Given the description of an element on the screen output the (x, y) to click on. 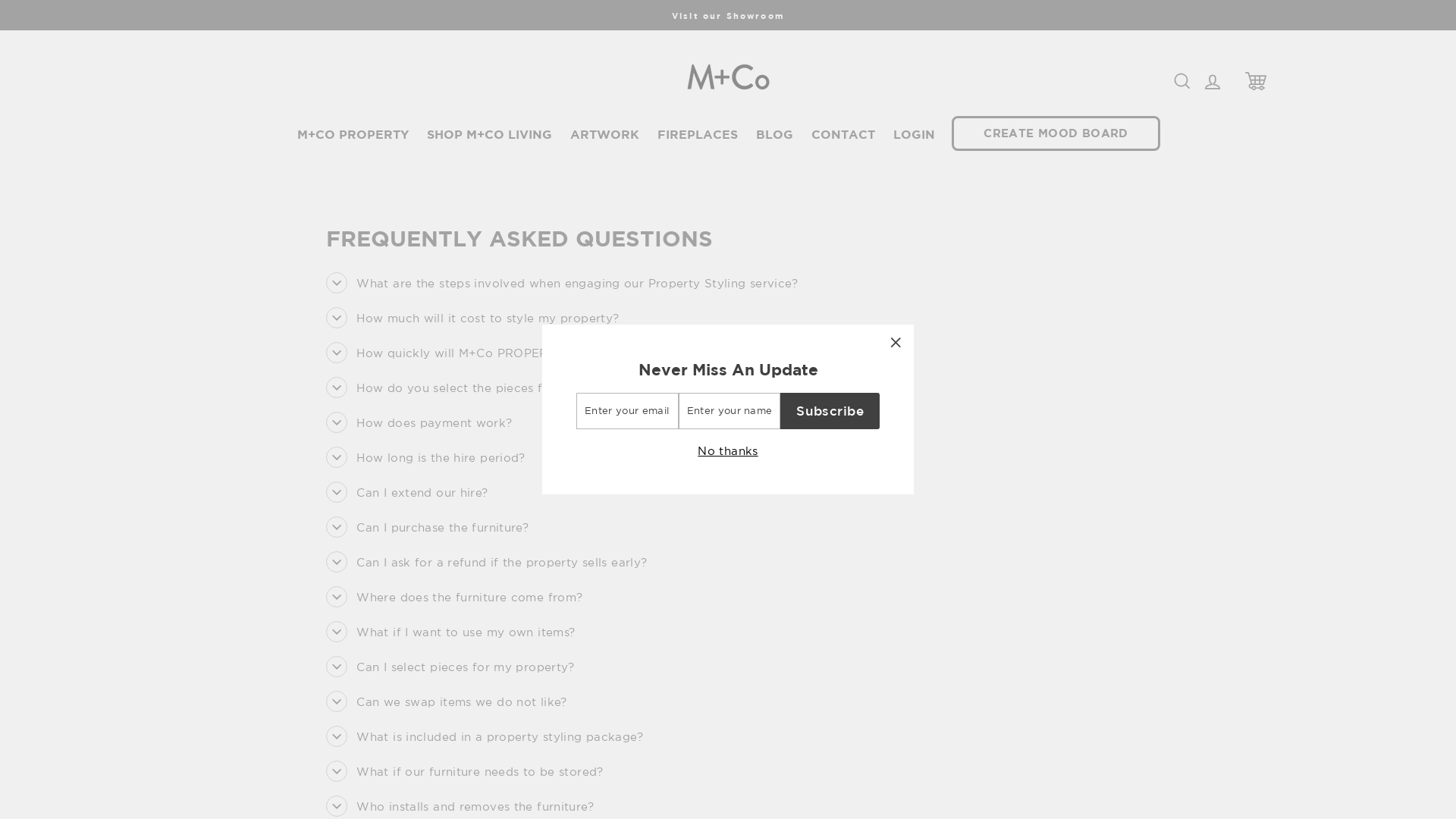
LOG IN Element type: text (1212, 80)
What is included in a property styling package? Element type: text (484, 735)
Where does the furniture come from? Element type: text (454, 596)
Visit our Showroom Element type: text (727, 14)
LOGIN Element type: text (913, 134)
No thanks Element type: text (727, 450)
Skip to content Element type: text (0, 0)
What if our furniture needs to be stored? Element type: text (464, 770)
Can I extend our hire? Element type: text (406, 491)
Can I purchase the furniture? Element type: text (427, 526)
How does payment work? Element type: text (418, 421)
Can we swap items we do not like? Element type: text (446, 701)
ARTWORK Element type: text (604, 134)
SHOP M+CO LIVING Element type: text (489, 134)
Can I ask for a refund if the property sells early? Element type: text (486, 561)
Subscribe Element type: text (829, 410)
What if I want to use my own items? Element type: text (450, 631)
How do you select the pieces for my home? Element type: text (472, 387)
CONTACT Element type: text (842, 134)
FIREPLACES Element type: text (697, 134)
CREATE MOOD BOARD Element type: text (1055, 133)
"Close (esc)" Element type: text (895, 342)
BLOG Element type: text (774, 134)
M+CO PROPERTY Element type: text (352, 134)
How quickly will M+Co PROPERTY respond to my quote request? Element type: text (537, 352)
How long is the hire period? Element type: text (425, 456)
SEARCH Element type: text (1181, 80)
Can I select pieces for my property? Element type: text (450, 666)
CART Element type: text (1255, 80)
How much will it cost to style my property? Element type: text (472, 317)
